Given the description of an element on the screen output the (x, y) to click on. 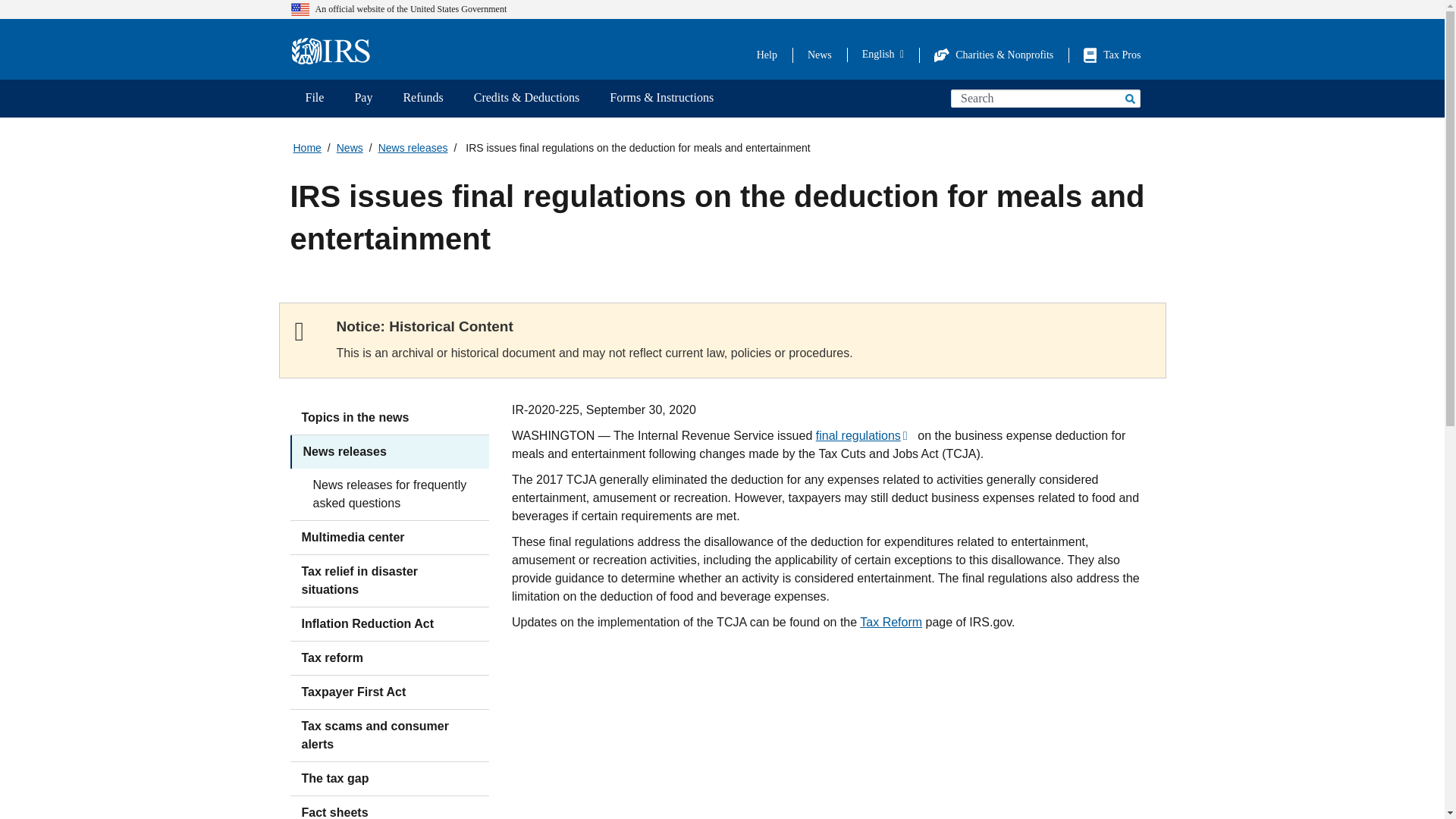
Home (335, 51)
Pay (363, 98)
English (882, 54)
File (314, 98)
Search (1129, 98)
Tax Pros (1111, 55)
